Given the description of an element on the screen output the (x, y) to click on. 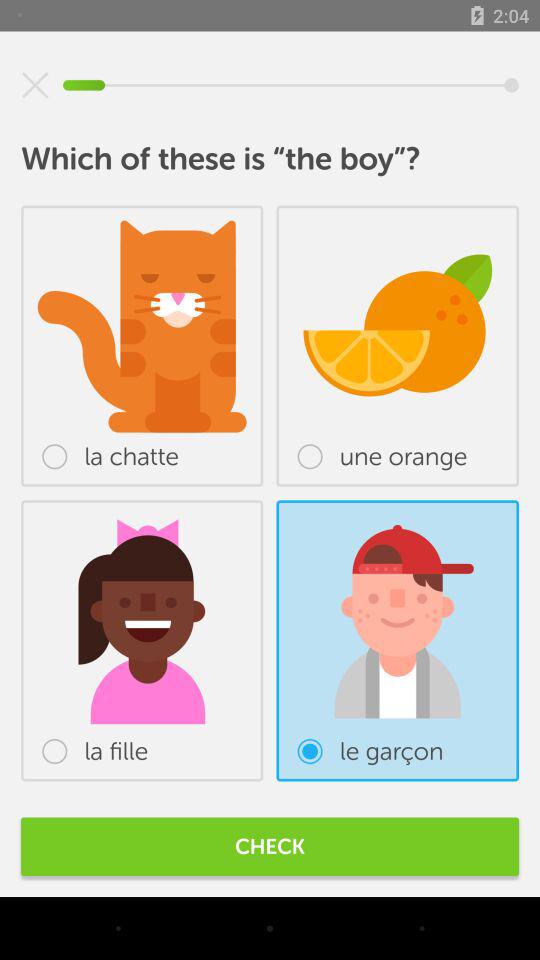
jump until check (270, 846)
